Given the description of an element on the screen output the (x, y) to click on. 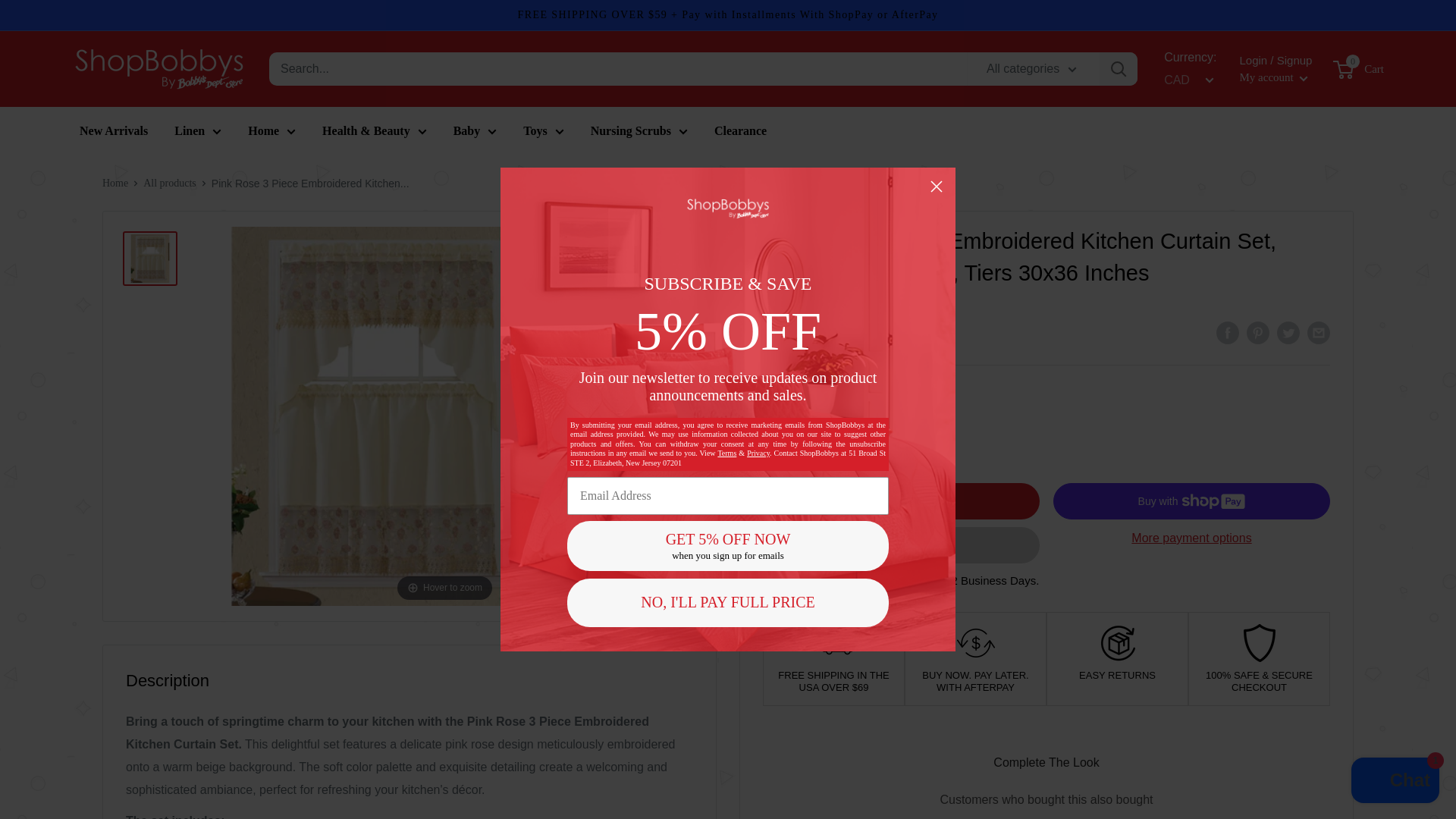
Currency (1186, 79)
